Given the description of an element on the screen output the (x, y) to click on. 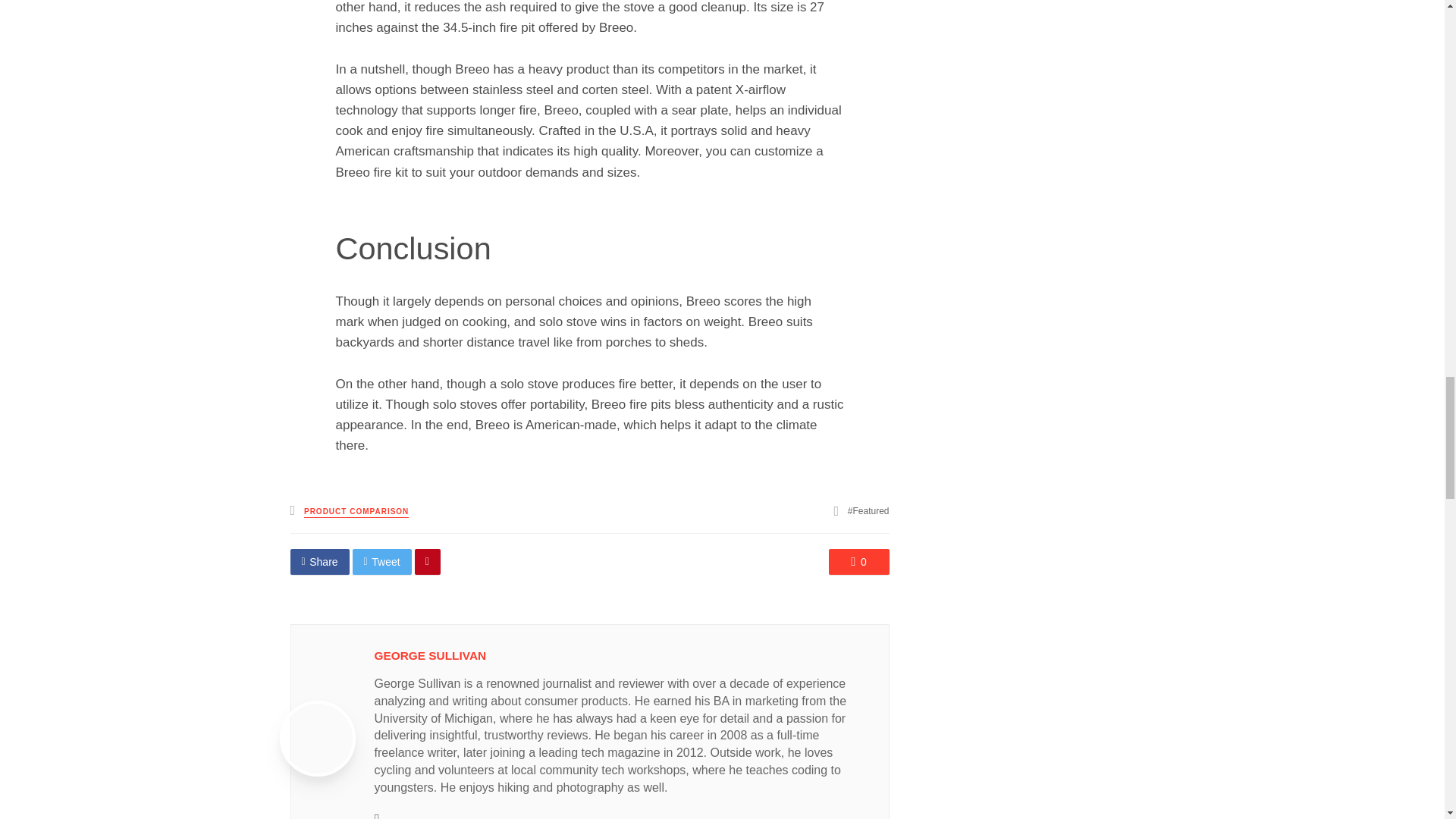
Share on Facebook (319, 561)
Posts by George Sullivan (430, 655)
0 Comments (858, 561)
Featured (868, 511)
PRODUCT COMPARISON (356, 511)
Share on Twitter (382, 561)
Share on Pinterest (427, 561)
Share (319, 561)
